Given the description of an element on the screen output the (x, y) to click on. 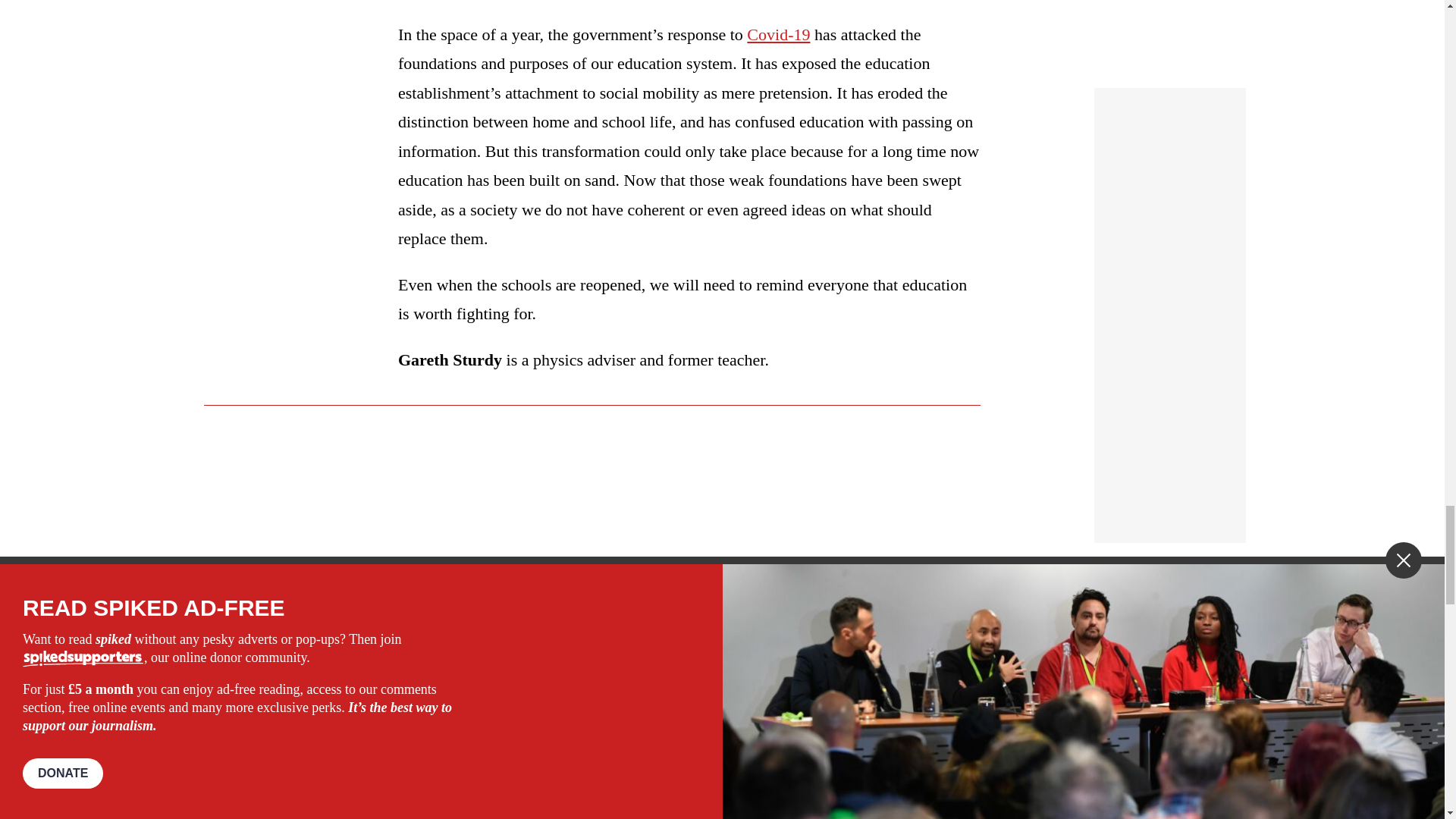
Share on Email (518, 748)
Share on Whatsapp (494, 748)
Share on Twitter (471, 748)
Share on Facebook (448, 748)
